Given the description of an element on the screen output the (x, y) to click on. 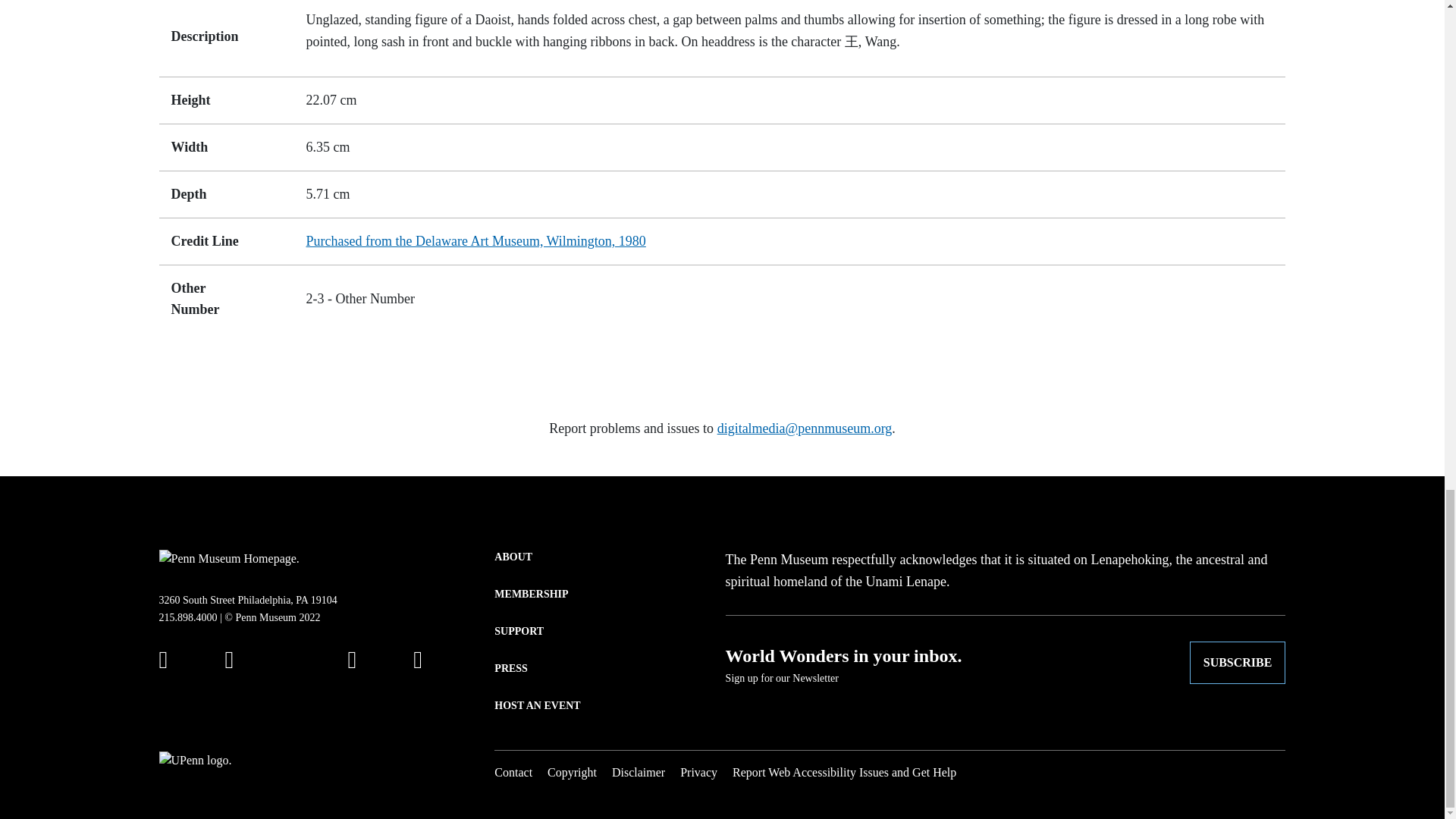
Contact (513, 772)
Report Web Accessibility Issues and Get Help (844, 772)
Disclaimer (638, 772)
Copyright (571, 772)
Privacy (698, 772)
